Given the description of an element on the screen output the (x, y) to click on. 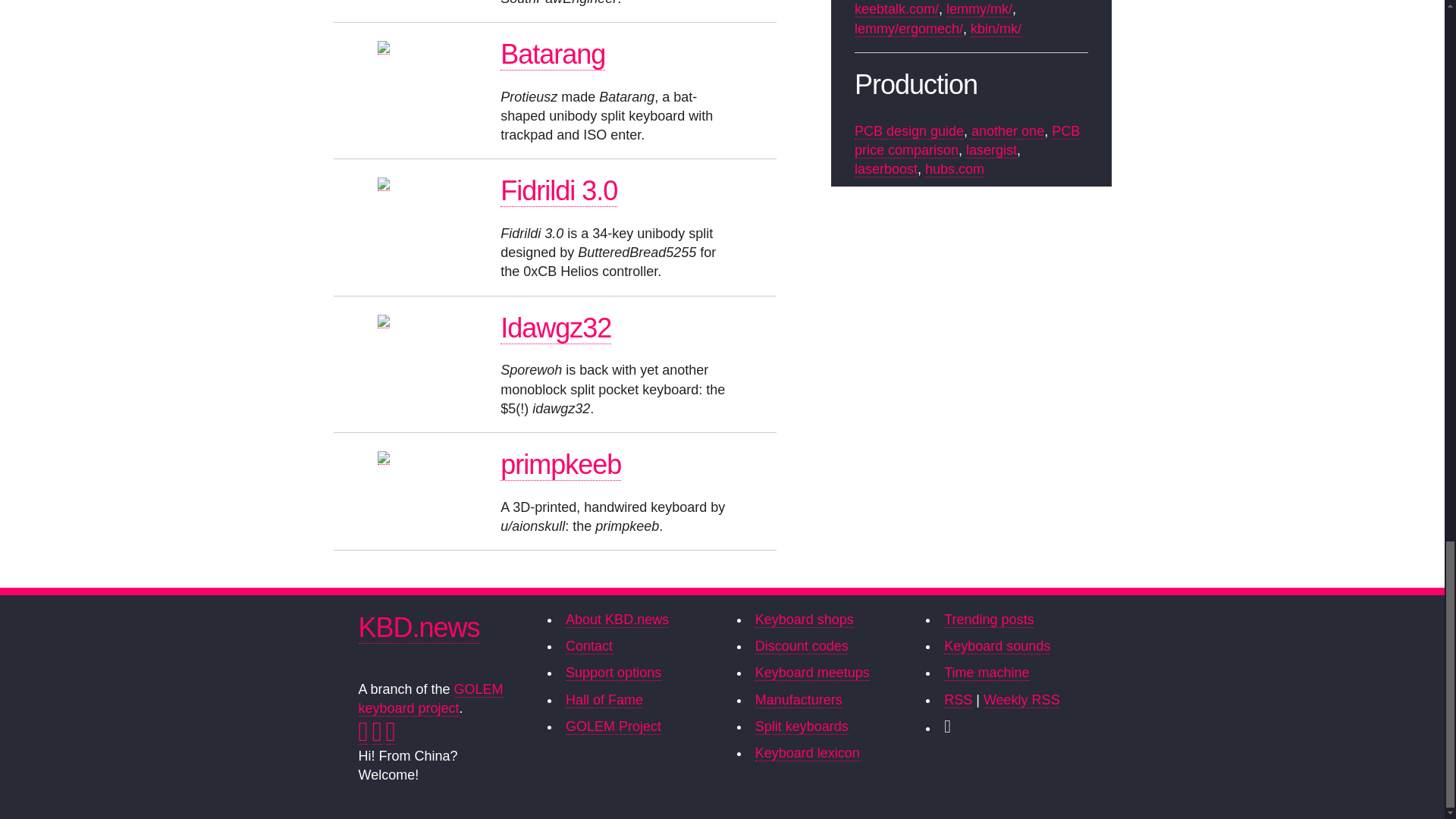
Fidrildi 3.0 (558, 191)
Batarang (552, 54)
Idawgz32 (555, 327)
primpkeeb (560, 464)
